Given the description of an element on the screen output the (x, y) to click on. 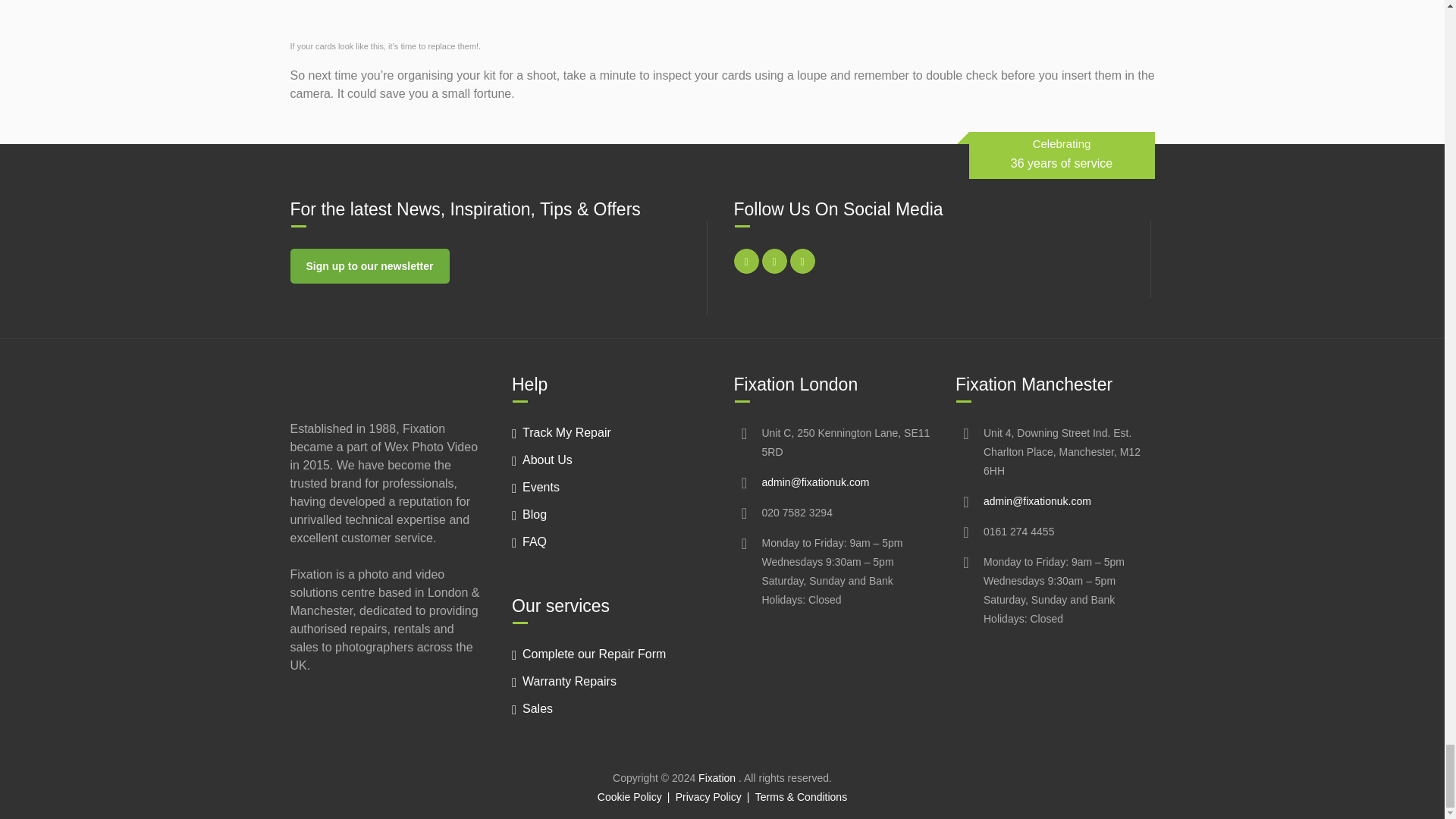
Sign up to our newsletter (368, 265)
